Given the description of an element on the screen output the (x, y) to click on. 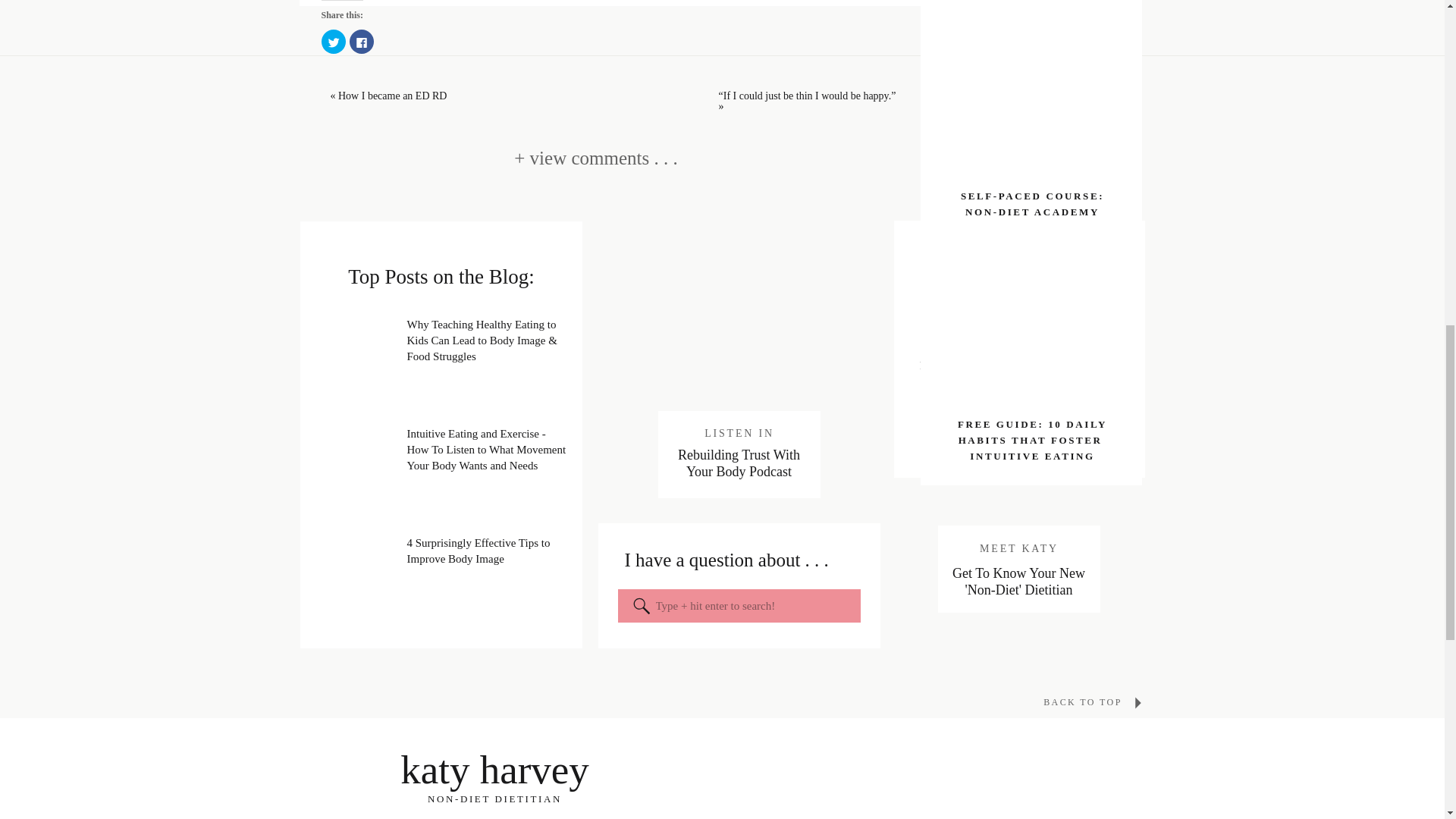
How I became an ED RD (391, 95)
Click to share on Twitter (333, 41)
SEE SERVICES (1018, 432)
SELF-PACED COURSE: NON-DIET ACADEMY (1032, 203)
Get To Know Your New 'Non-Diet' Dietitian (1018, 581)
Click to share on Facebook (360, 41)
MEET KATY (1018, 548)
FREE GUIDE: 10 DAILY HABITS THAT FOSTER  INTUITIVE EATING (1032, 441)
